Given the description of an element on the screen output the (x, y) to click on. 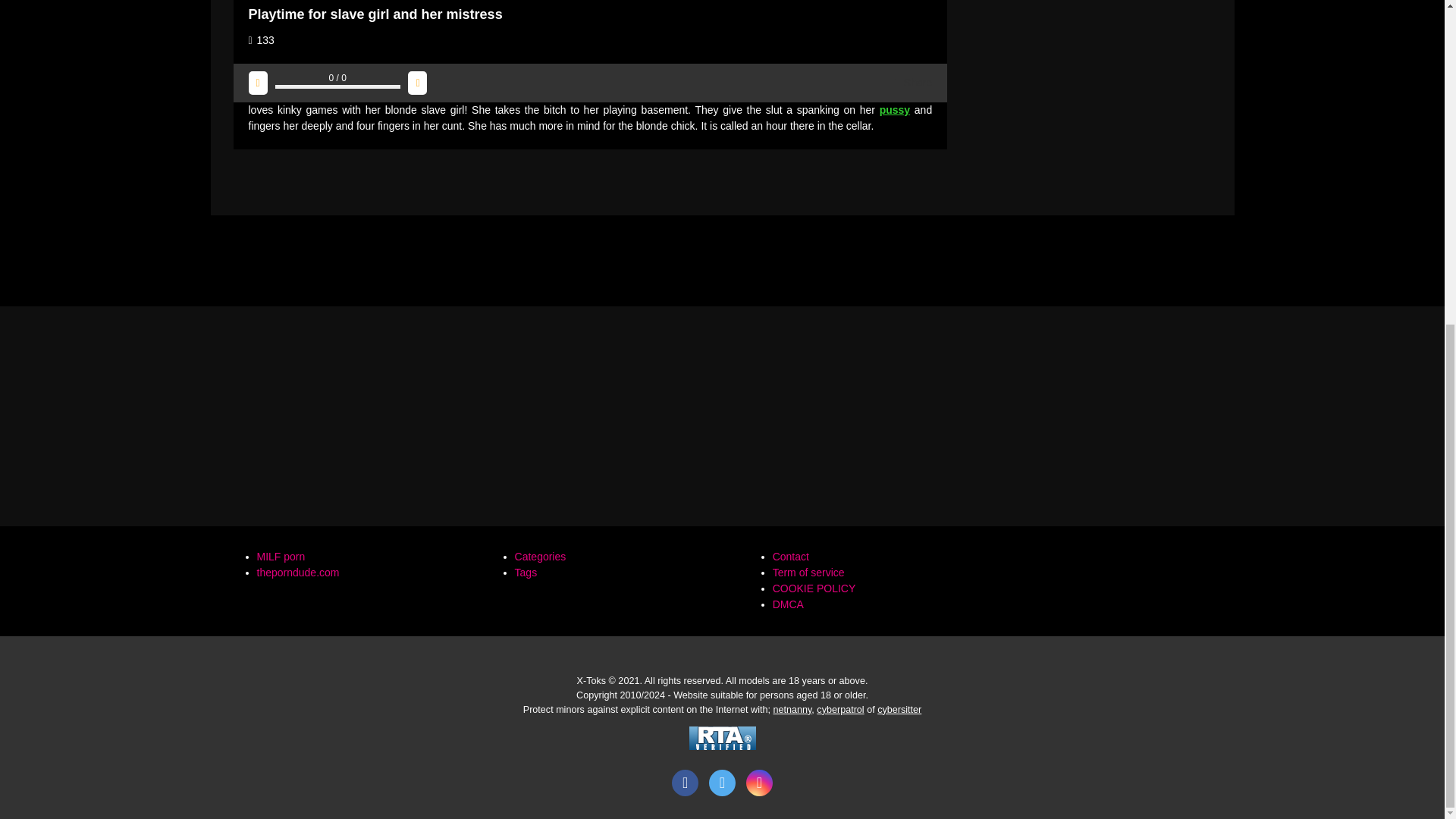
Categories (540, 556)
MILF porn (280, 556)
pussy (894, 110)
Tags (526, 572)
MILF PORN (280, 556)
Share (913, 82)
theporndude.com (297, 572)
Contact (791, 556)
Term of service (808, 572)
pussy (894, 110)
